Given the description of an element on the screen output the (x, y) to click on. 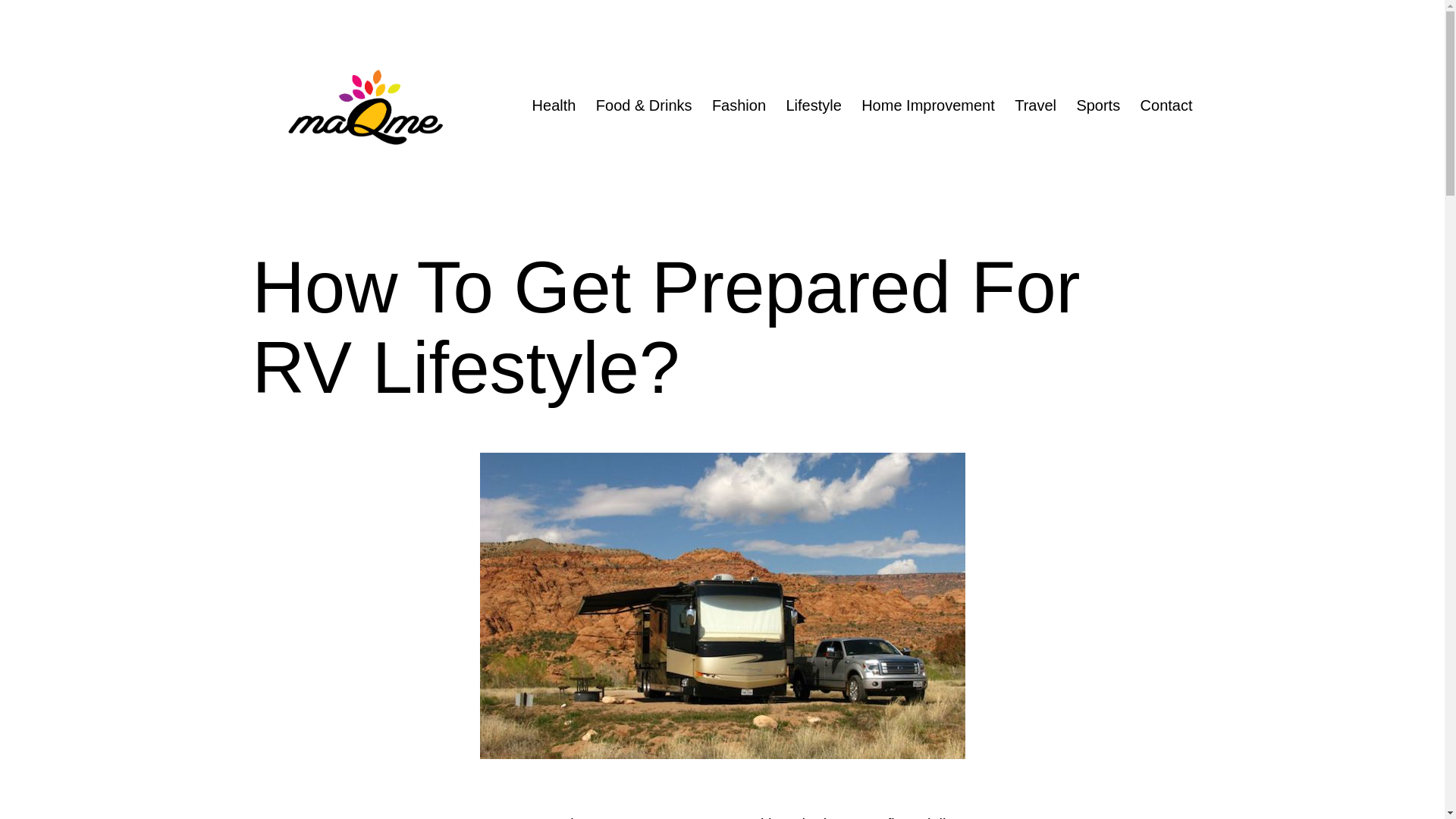
Sports (1097, 104)
Home Improvement (927, 104)
Health (553, 104)
Lifestyle (813, 104)
Travel (1034, 104)
Fashion (738, 104)
Contact (1165, 104)
